Given the description of an element on the screen output the (x, y) to click on. 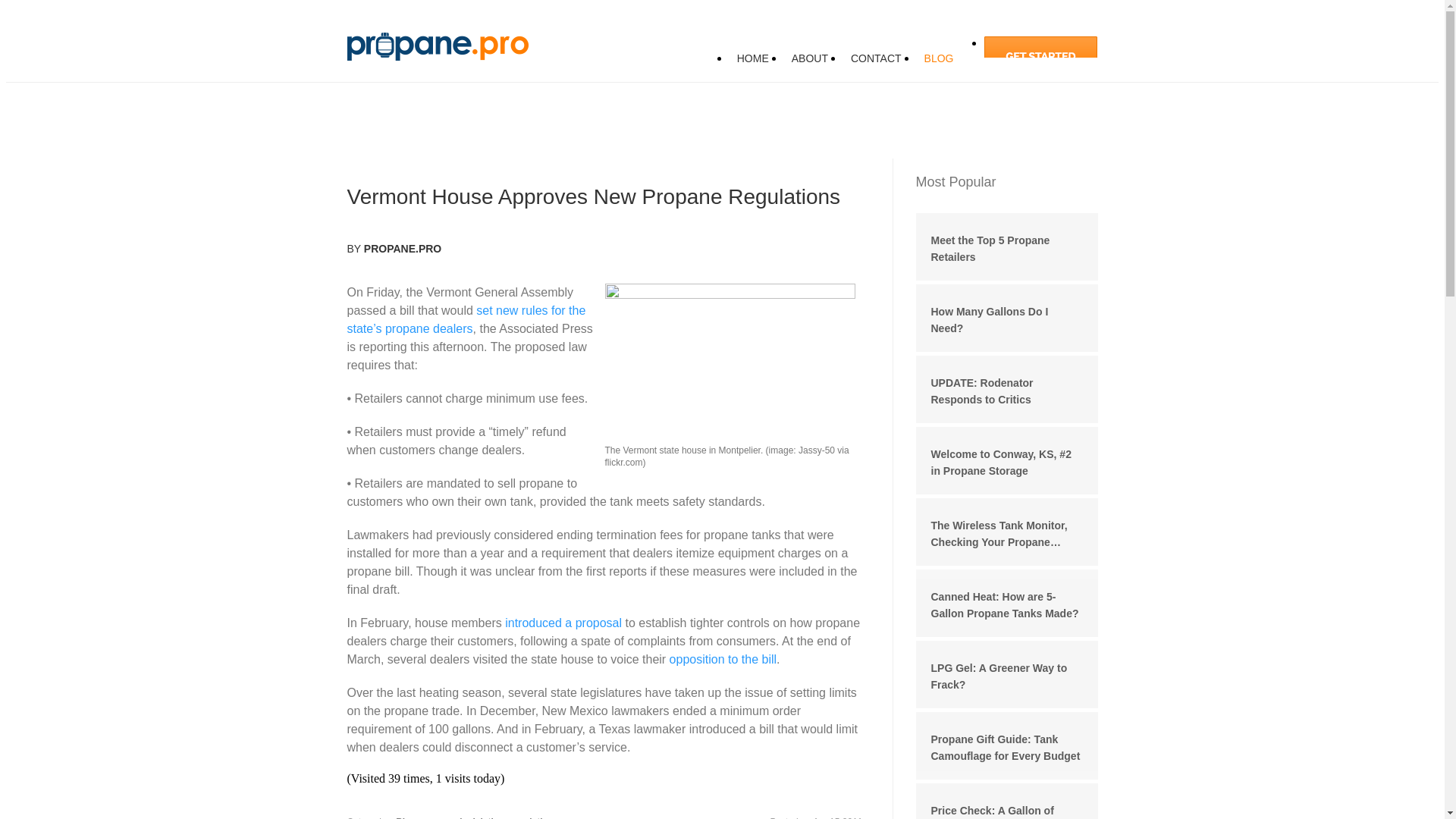
introduced a proposal (563, 622)
ABOUT (809, 58)
Blog (406, 817)
PROPANE.PRO (402, 248)
VTCapitol (730, 363)
BLOG (938, 58)
Posts by Propane.pro (402, 248)
opposition to the bill (722, 658)
propane legislation (463, 817)
HOME (752, 58)
CONTACT (875, 58)
regulation (531, 817)
